Given the description of an element on the screen output the (x, y) to click on. 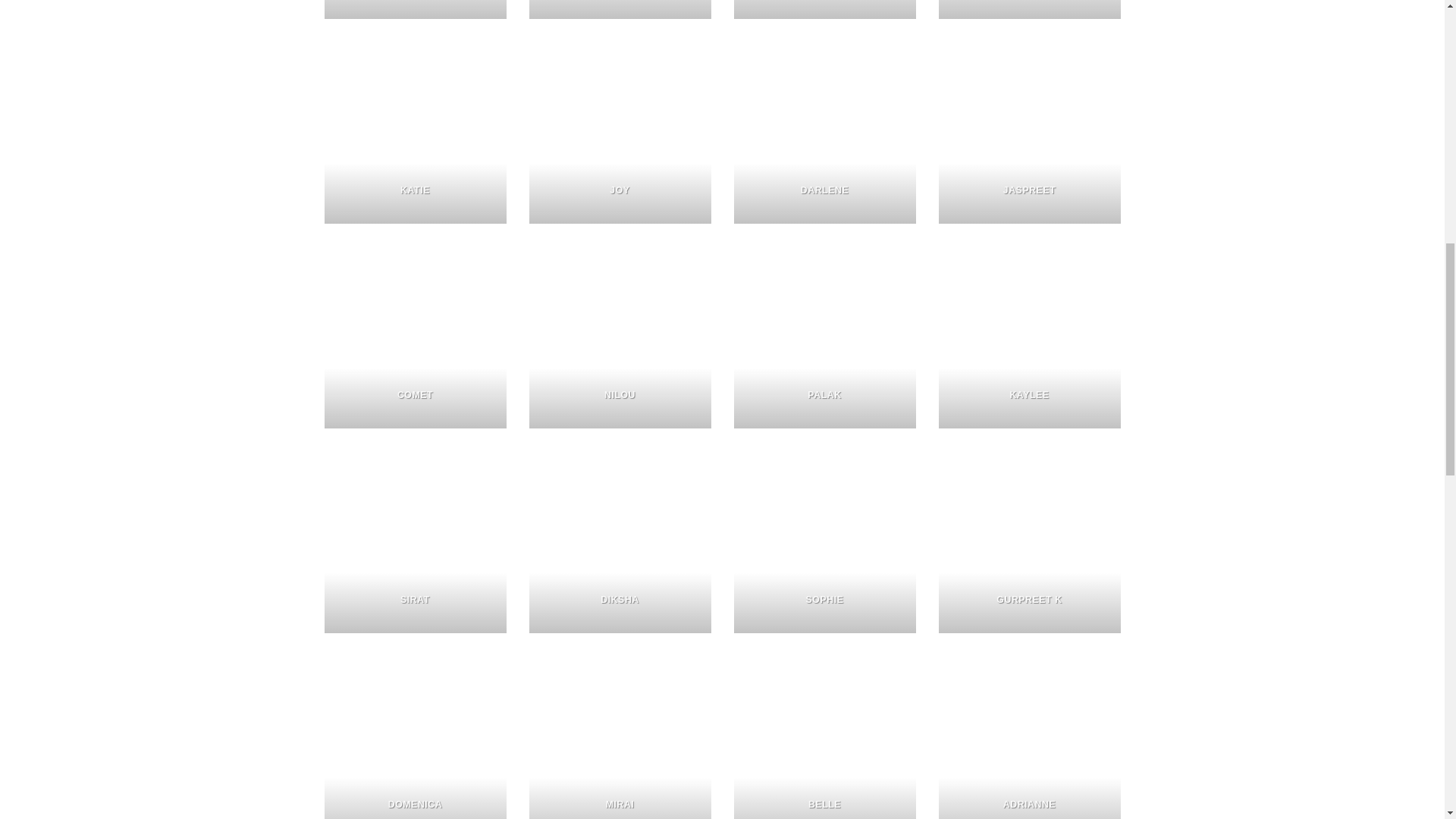
SIRAT (415, 542)
ZOEY (824, 9)
JASPREET (1030, 132)
PALAK (824, 337)
JOY (620, 132)
MINDY (415, 9)
SAM (620, 9)
MIRAI (620, 737)
LILY (1030, 9)
NILOU (620, 337)
